Given the description of an element on the screen output the (x, y) to click on. 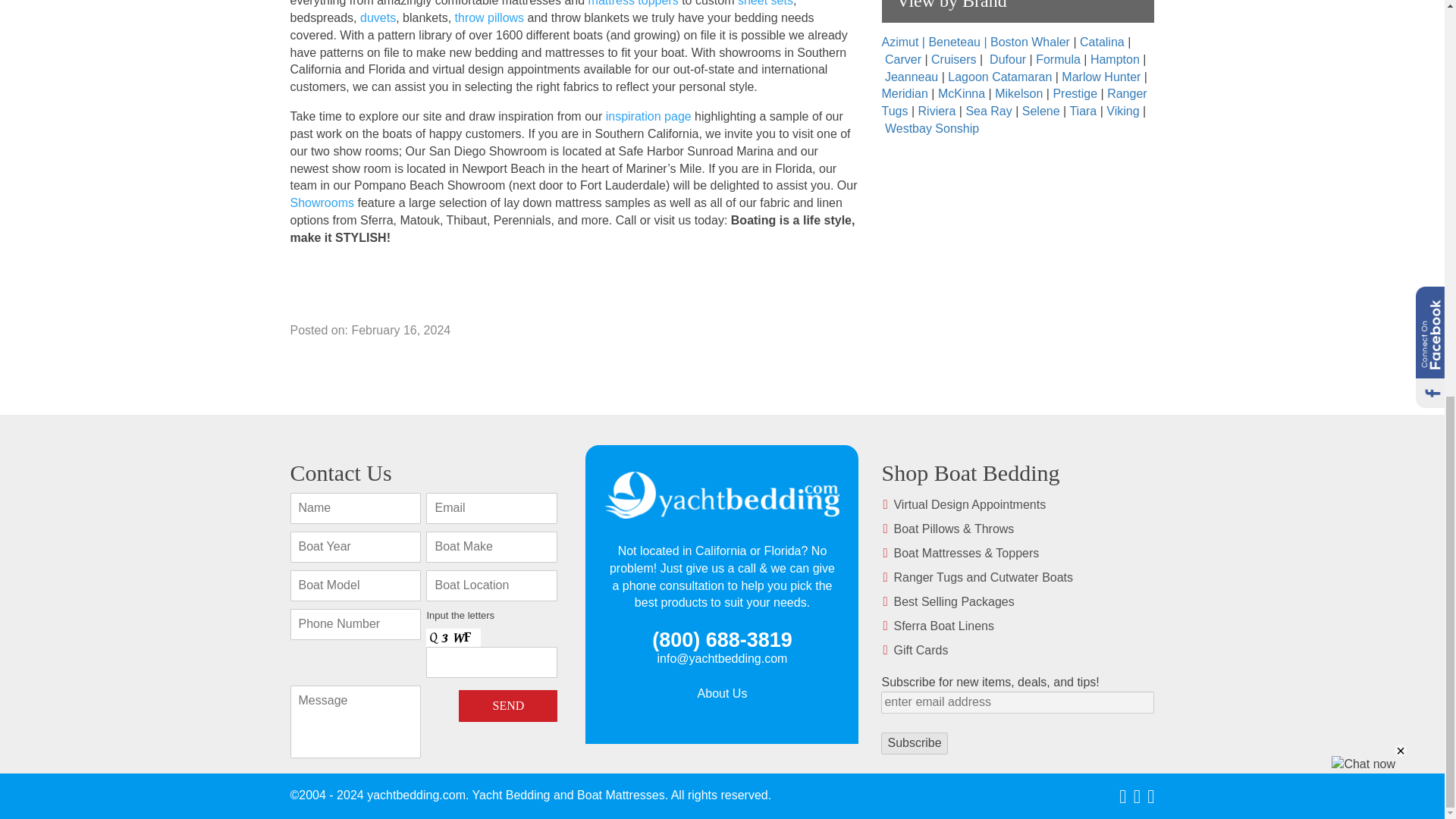
throw pillows (489, 21)
mattress toppers (633, 7)
Subscribe (913, 743)
Send (507, 705)
inspiration page (648, 119)
sheet sets (765, 7)
Showrooms (321, 206)
duvets (377, 21)
